Given the description of an element on the screen output the (x, y) to click on. 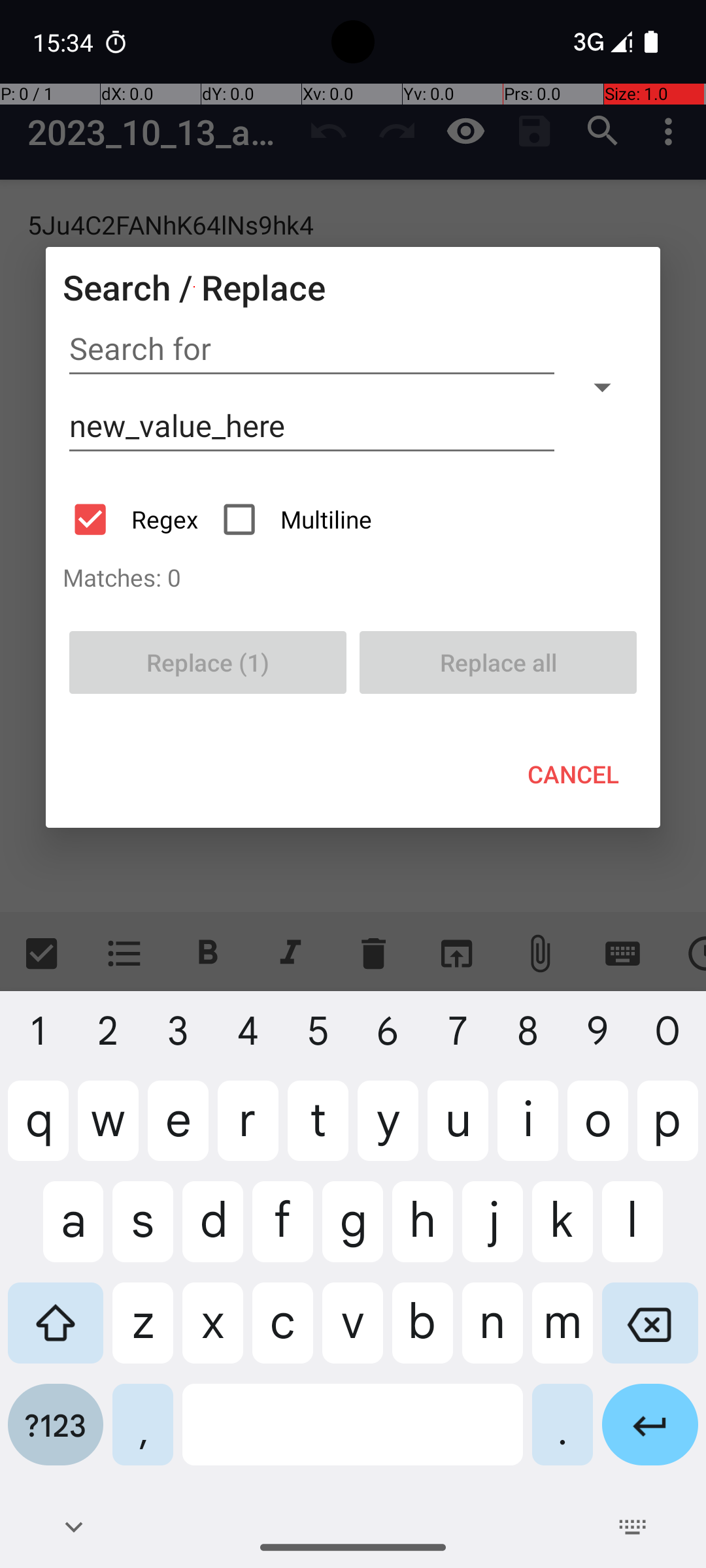
Search / Replace Element type: android.widget.TextView (193, 286)
Search for Element type: android.widget.EditText (311, 348)
new_value_here Element type: android.widget.EditText (311, 425)
Regex Element type: android.widget.CheckBox (136, 518)
Multiline Element type: android.widget.CheckBox (298, 518)
Matches: 0 Element type: android.widget.TextView (352, 576)
Replace (1) Element type: android.widget.Button (207, 662)
Replace all Element type: android.widget.Button (498, 662)
